Given the description of an element on the screen output the (x, y) to click on. 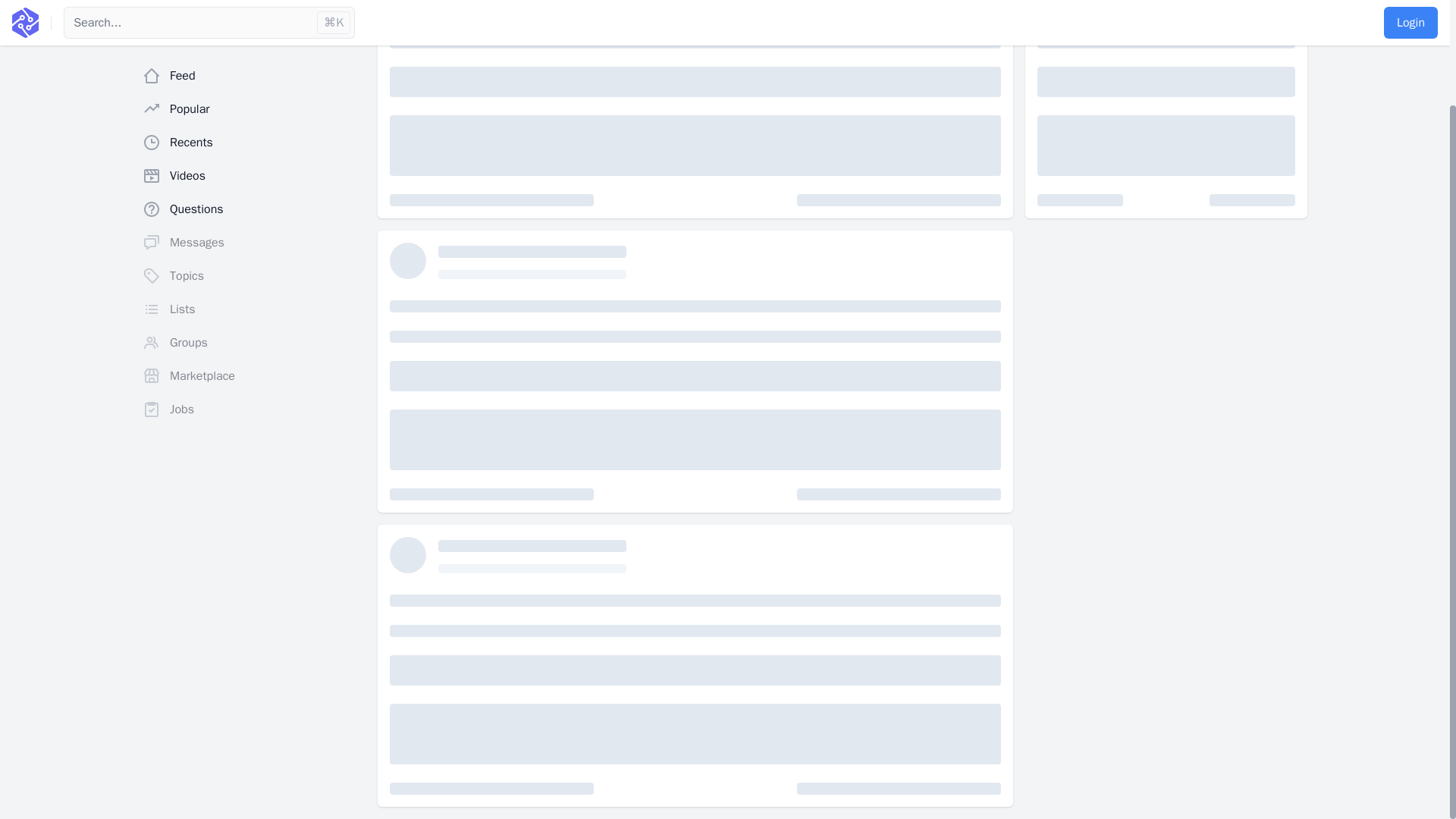
Popular (253, 1)
Recents (253, 20)
Questions (253, 87)
Videos (253, 54)
